Given the description of an element on the screen output the (x, y) to click on. 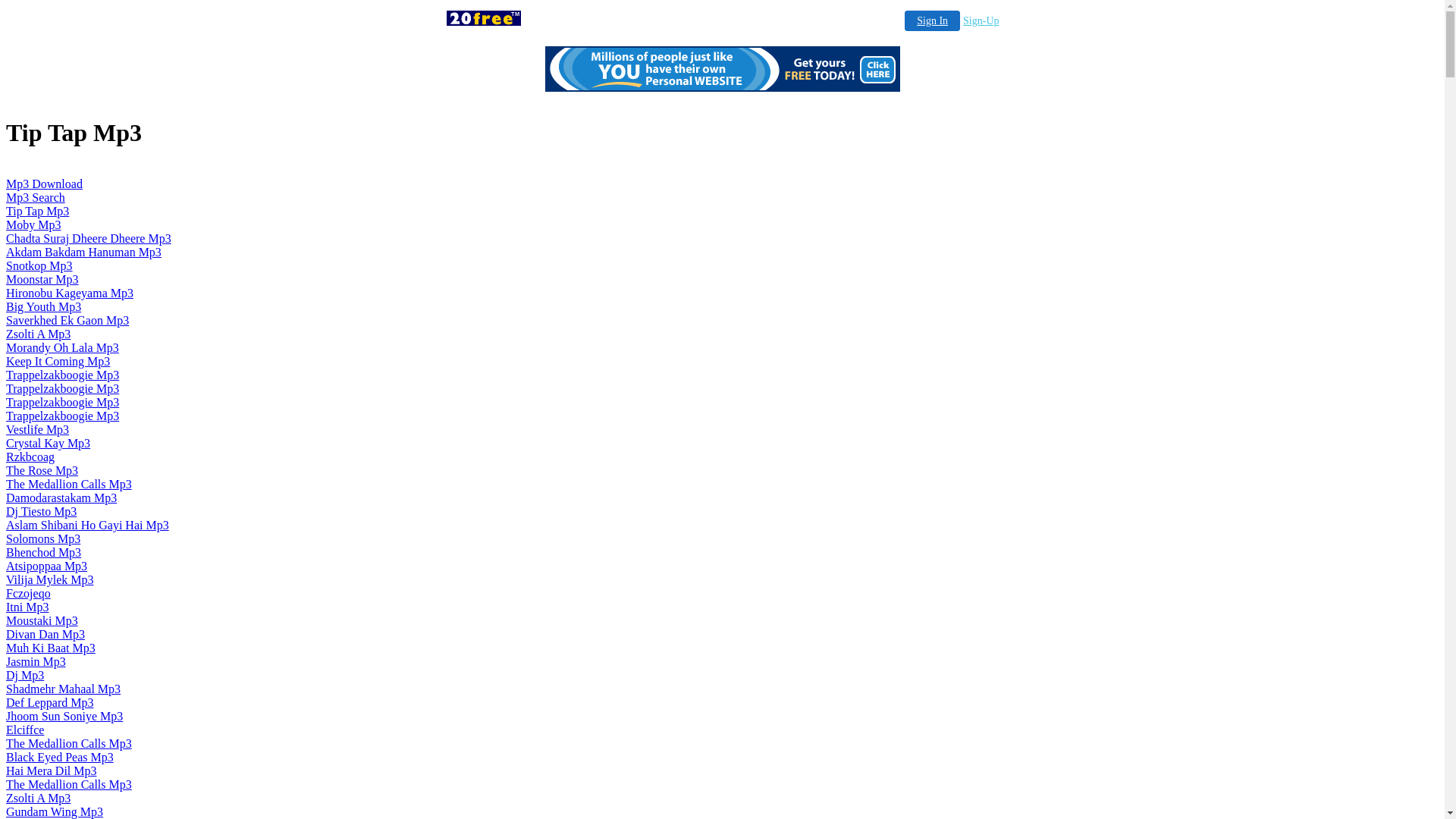
Zsolti A Mp3 Element type: text (38, 797)
The Medallion Calls Mp3 Element type: text (68, 784)
Sign-Up Element type: text (980, 20)
Bhenchod Mp3 Element type: text (43, 552)
Trappelzakboogie Mp3 Element type: text (62, 415)
Gundam Wing Mp3 Element type: text (54, 811)
Dj Tiesto Mp3 Element type: text (41, 511)
Vilija Mylek Mp3 Element type: text (49, 579)
Muh Ki Baat Mp3 Element type: text (50, 647)
Jhoom Sun Soniye Mp3 Element type: text (64, 715)
Fczojeqo Element type: text (28, 592)
Zsolti A Mp3 Element type: text (38, 333)
Jasmin Mp3 Element type: text (35, 661)
Rzkbcoag Element type: text (30, 456)
Mp3 Search Element type: text (35, 197)
Solomons Mp3 Element type: text (43, 538)
Dj Mp3 Element type: text (24, 674)
Sign In Element type: text (932, 20)
Moby Mp3 Element type: text (33, 224)
Hai Mera Dil Mp3 Element type: text (51, 770)
The Medallion Calls Mp3 Element type: text (68, 483)
Tip Tap Mp3 Element type: text (37, 210)
Atsipoppaa Mp3 Element type: text (46, 565)
Divan Dan Mp3 Element type: text (45, 633)
Damodarastakam Mp3 Element type: text (61, 497)
The Rose Mp3 Element type: text (42, 470)
Mp3 Download Element type: text (44, 183)
The Medallion Calls Mp3 Element type: text (68, 743)
Trappelzakboogie Mp3 Element type: text (62, 374)
Black Eyed Peas Mp3 Element type: text (59, 756)
Big Youth Mp3 Element type: text (43, 306)
Hironobu Kageyama Mp3 Element type: text (69, 292)
Keep It Coming Mp3 Element type: text (57, 360)
Moonstar Mp3 Element type: text (42, 279)
Snotkop Mp3 Element type: text (39, 265)
Itni Mp3 Element type: text (27, 606)
Chadta Suraj Dheere Dheere Mp3 Element type: text (88, 238)
Aslam Shibani Ho Gayi Hai Mp3 Element type: text (87, 524)
Moustaki Mp3 Element type: text (42, 620)
Vestlife Mp3 Element type: text (37, 429)
Shadmehr Mahaal Mp3 Element type: text (63, 688)
Akdam Bakdam Hanuman Mp3 Element type: text (83, 251)
Saverkhed Ek Gaon Mp3 Element type: text (67, 319)
Morandy Oh Lala Mp3 Element type: text (62, 347)
Trappelzakboogie Mp3 Element type: text (62, 401)
Elciffce Element type: text (24, 729)
Crystal Kay Mp3 Element type: text (48, 442)
Def Leppard Mp3 Element type: text (50, 702)
Trappelzakboogie Mp3 Element type: text (62, 388)
